Given the description of an element on the screen output the (x, y) to click on. 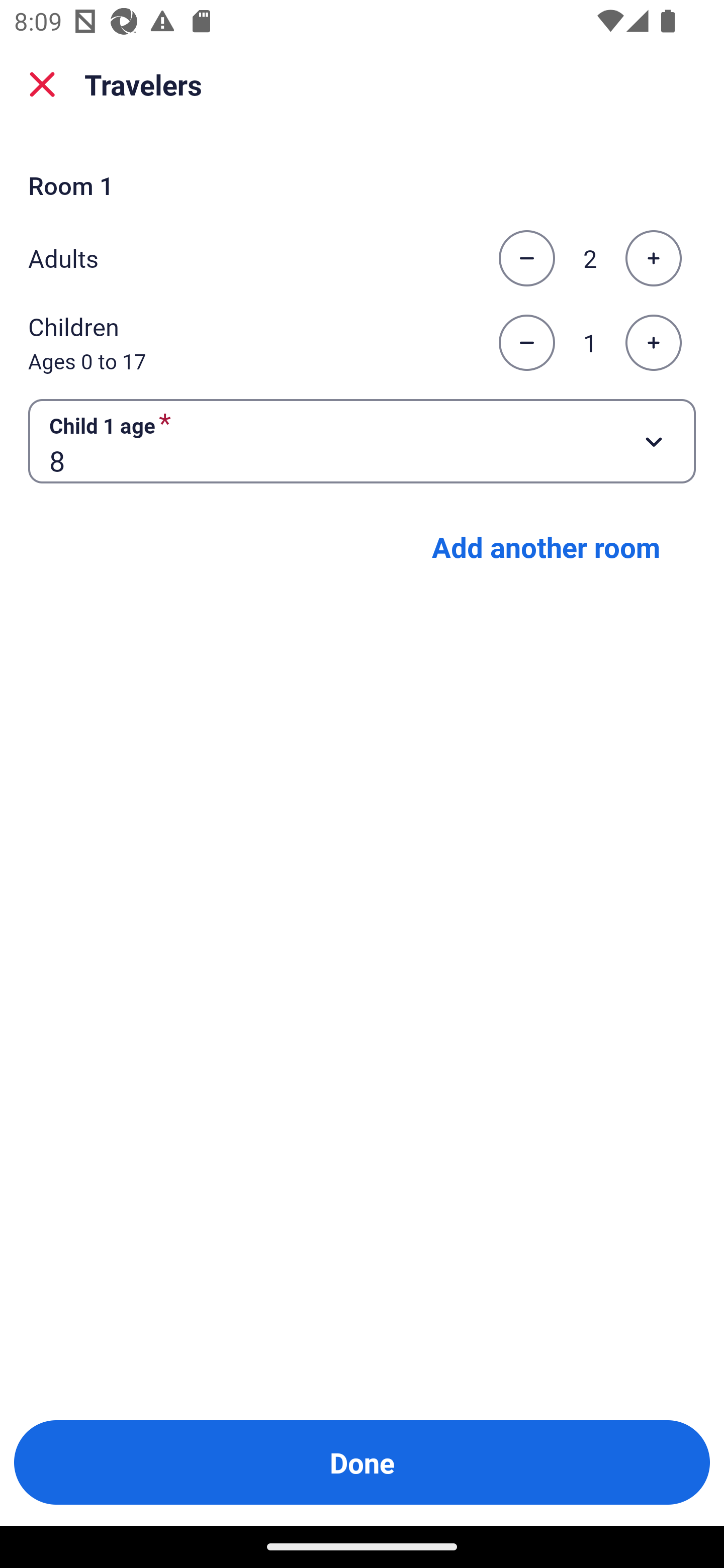
close (42, 84)
Decrease the number of adults (526, 258)
Increase the number of adults (653, 258)
Decrease the number of children (526, 343)
Increase the number of children (653, 343)
Child 1 age required Button 8 (361, 440)
Add another room (545, 546)
Done (361, 1462)
